Given the description of an element on the screen output the (x, y) to click on. 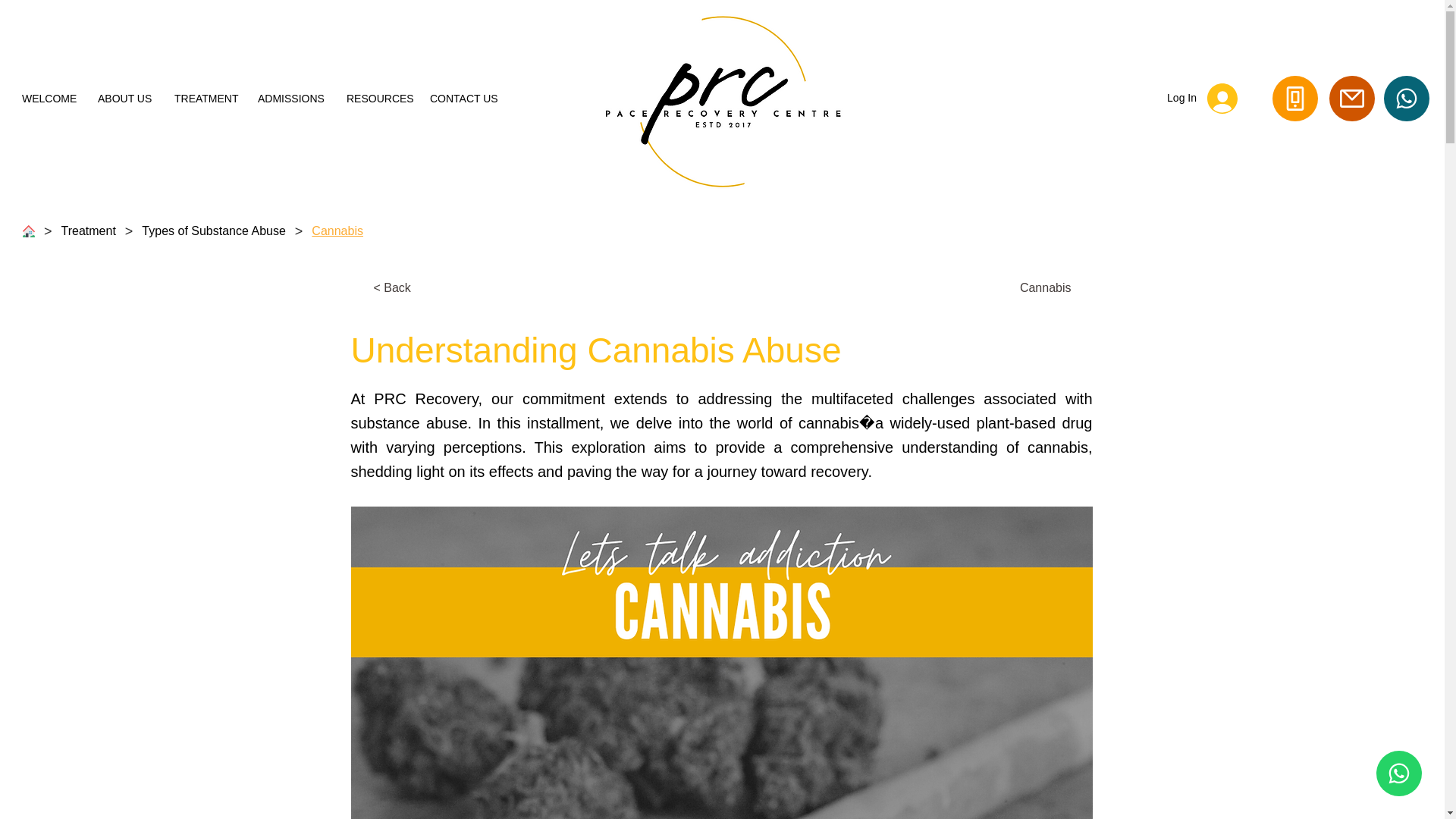
Treatment (88, 230)
ADMISSIONS (290, 98)
ABOUT US (124, 98)
Cannabis (337, 230)
Types of Substance Abuse (212, 230)
WELCOME (47, 98)
RESOURCES (376, 98)
TREATMENT (204, 98)
CONTACT US (464, 98)
Cannabis (1013, 287)
Log In (1201, 97)
